Given the description of an element on the screen output the (x, y) to click on. 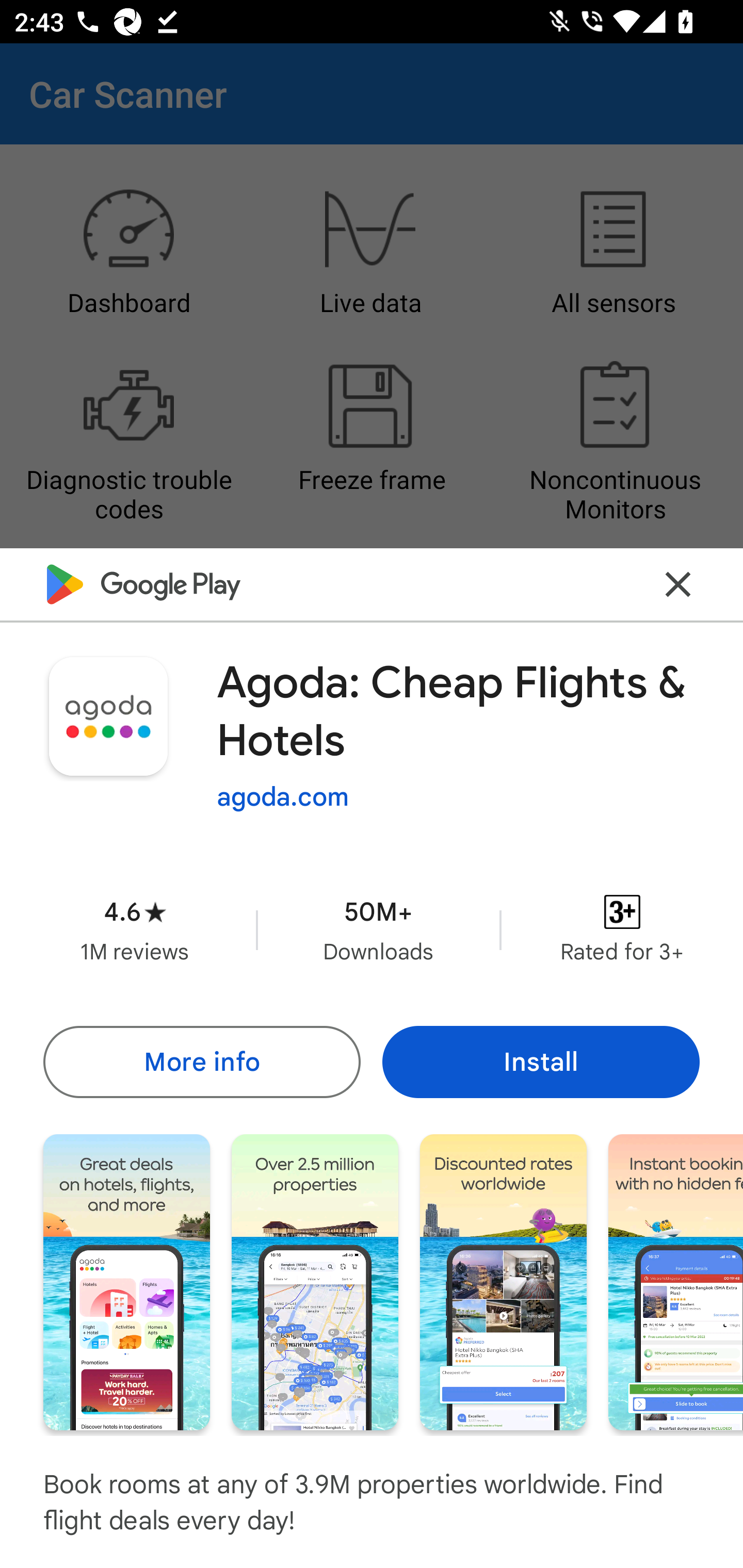
Close (677, 584)
agoda.com (282, 796)
More info (201, 1061)
Install (540, 1061)
Screenshot "1" of "8" (126, 1281)
Screenshot "2" of "8" (314, 1281)
Screenshot "3" of "8" (502, 1281)
Screenshot "4" of "8" (675, 1281)
